Given the description of an element on the screen output the (x, y) to click on. 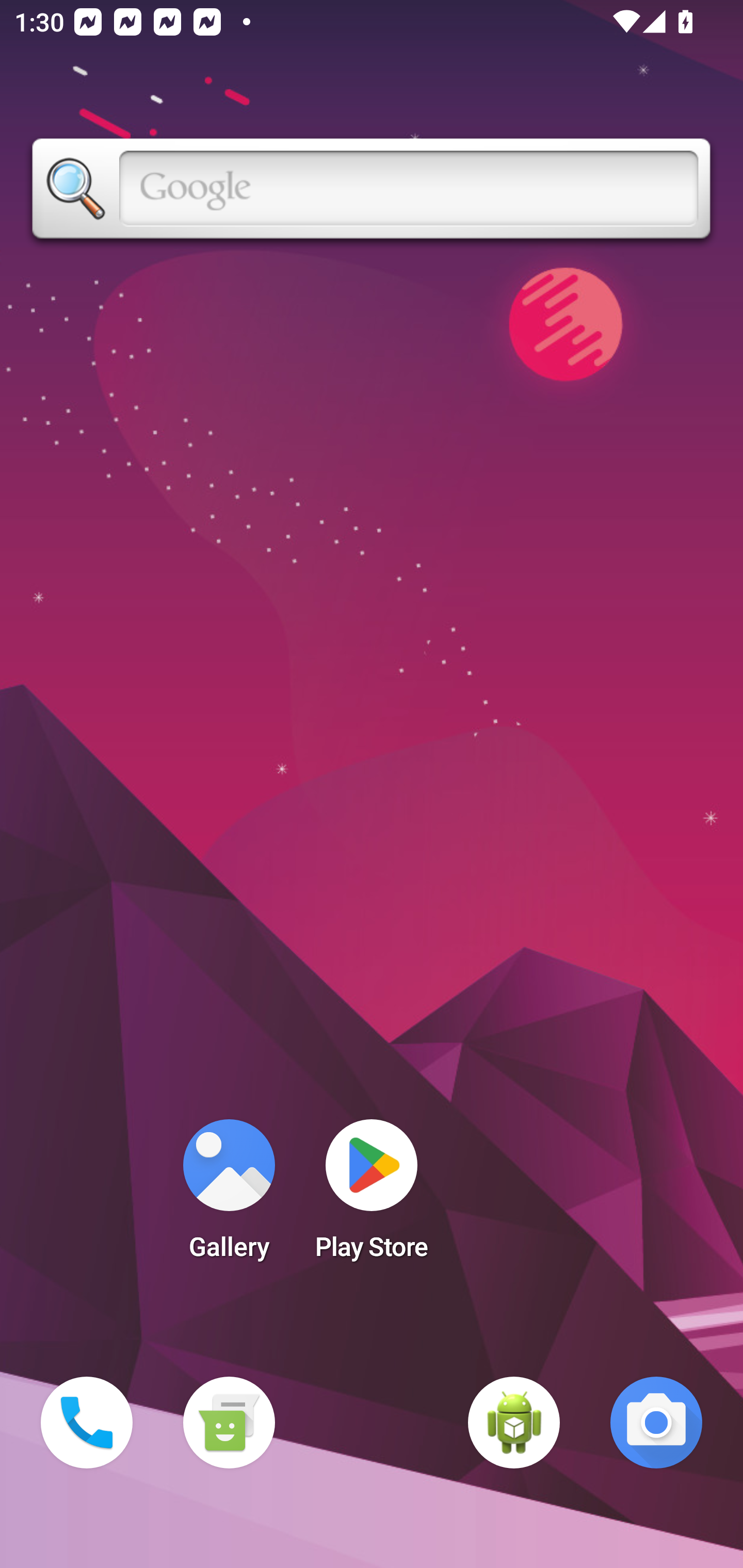
Gallery (228, 1195)
Play Store (371, 1195)
Phone (86, 1422)
Messaging (228, 1422)
WebView Browser Tester (513, 1422)
Camera (656, 1422)
